Given the description of an element on the screen output the (x, y) to click on. 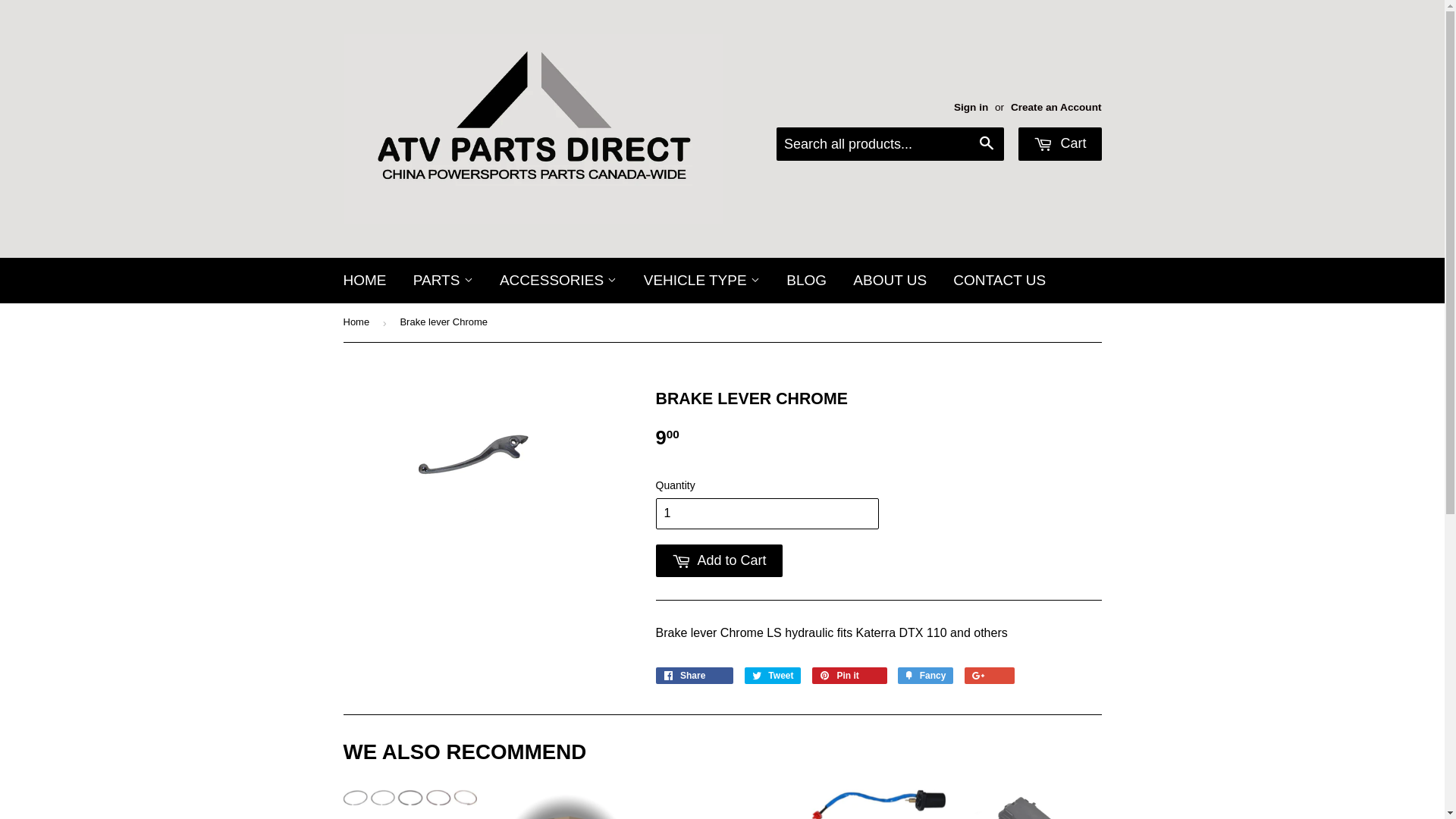
Tweet Element type: text (772, 675)
Home Element type: text (358, 322)
ACCESSORIES Element type: text (558, 280)
Search Element type: text (986, 144)
Fancy Element type: text (925, 675)
BLOG Element type: text (806, 280)
ABOUT US Element type: text (889, 280)
Create an Account Element type: text (1055, 106)
Add to Cart Element type: text (718, 560)
Pin it Element type: text (849, 675)
VEHICLE TYPE Element type: text (701, 280)
Sign in Element type: text (970, 106)
Cart Element type: text (1059, 143)
HOME Element type: text (365, 280)
Share Element type: text (694, 675)
PARTS Element type: text (442, 280)
CONTACT US Element type: text (999, 280)
